Given the description of an element on the screen output the (x, y) to click on. 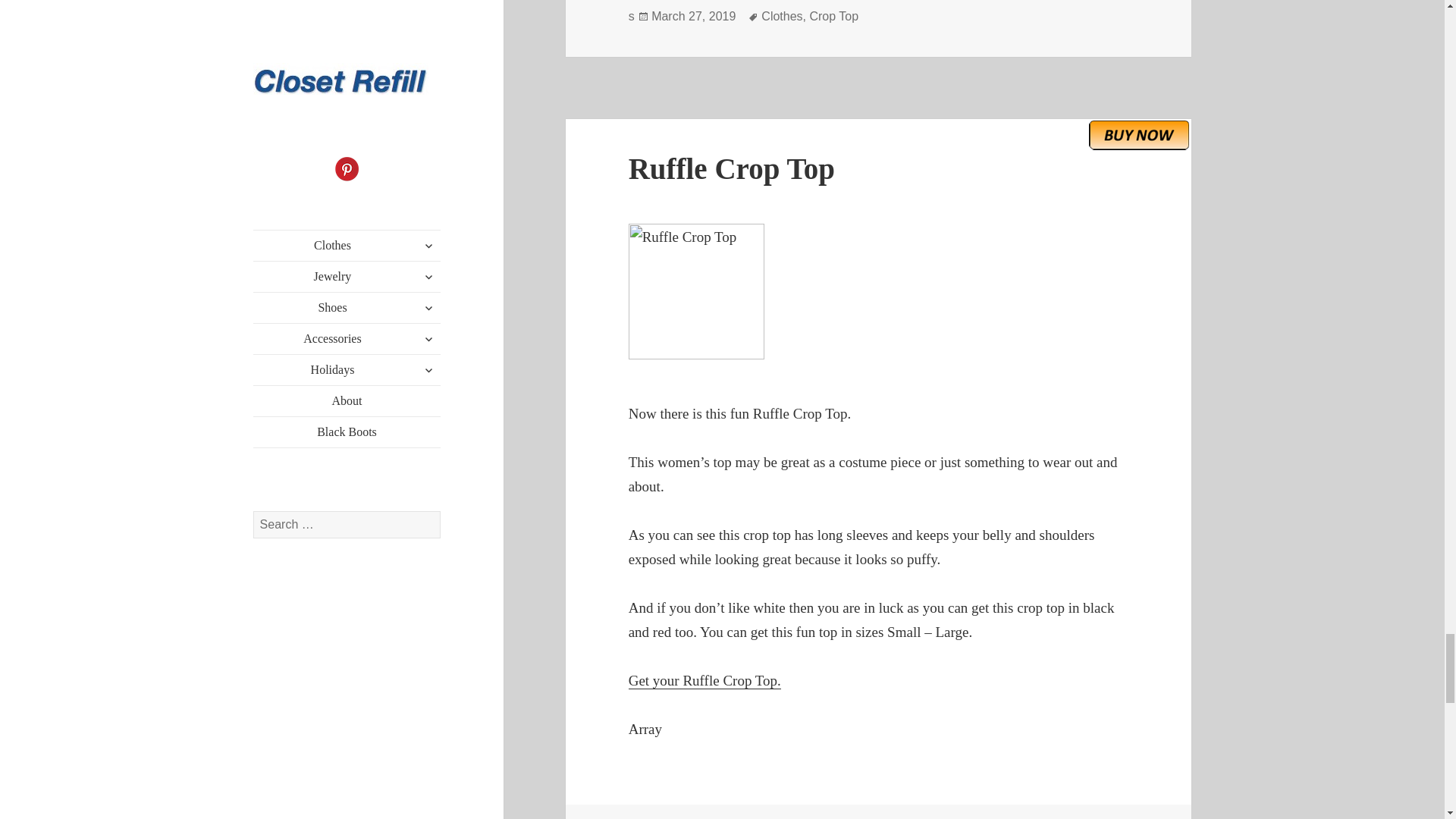
buy Ruffle Crop Top (1139, 134)
